Given the description of an element on the screen output the (x, y) to click on. 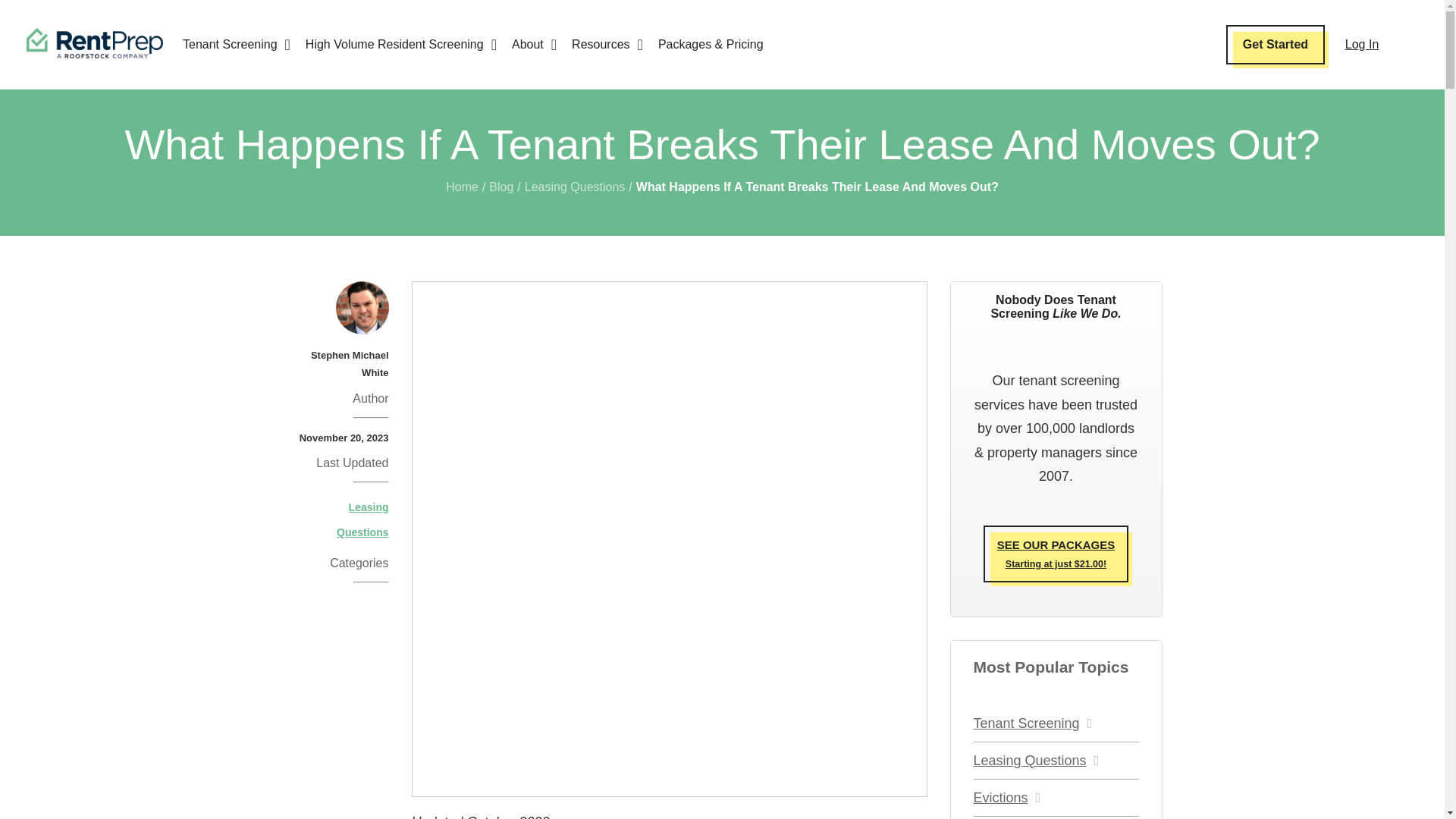
Leasing Questions (575, 186)
Tenant Screening (236, 44)
High Volume Resident Screening (400, 44)
Get Started (1274, 44)
Blog (501, 186)
Leasing Questions (362, 519)
Home (462, 186)
What Happens If A Tenant Breaks Their Lease And Moves Out? (817, 186)
Home (462, 186)
